Given the description of an element on the screen output the (x, y) to click on. 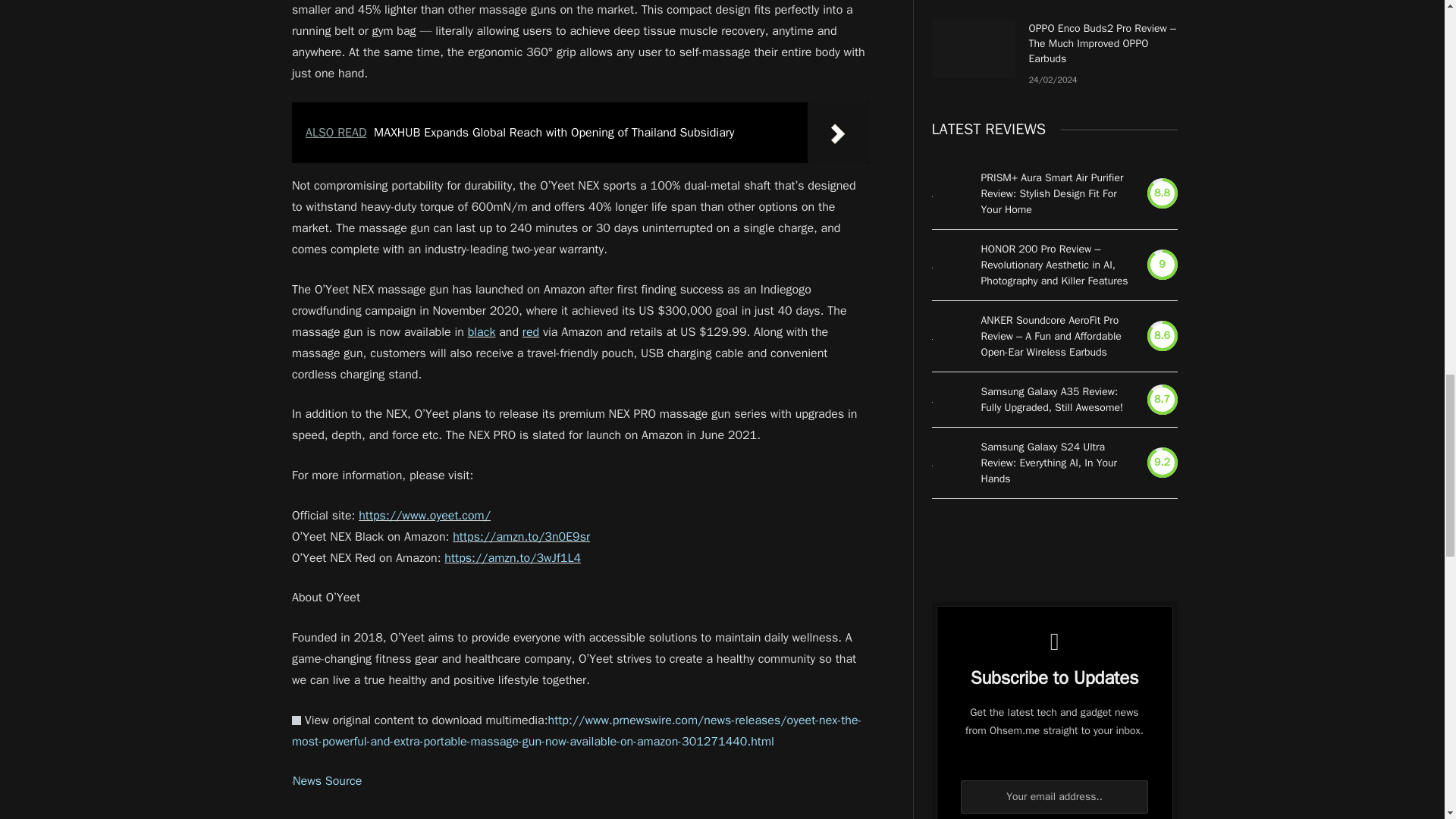
Cision (296, 719)
